Given the description of an element on the screen output the (x, y) to click on. 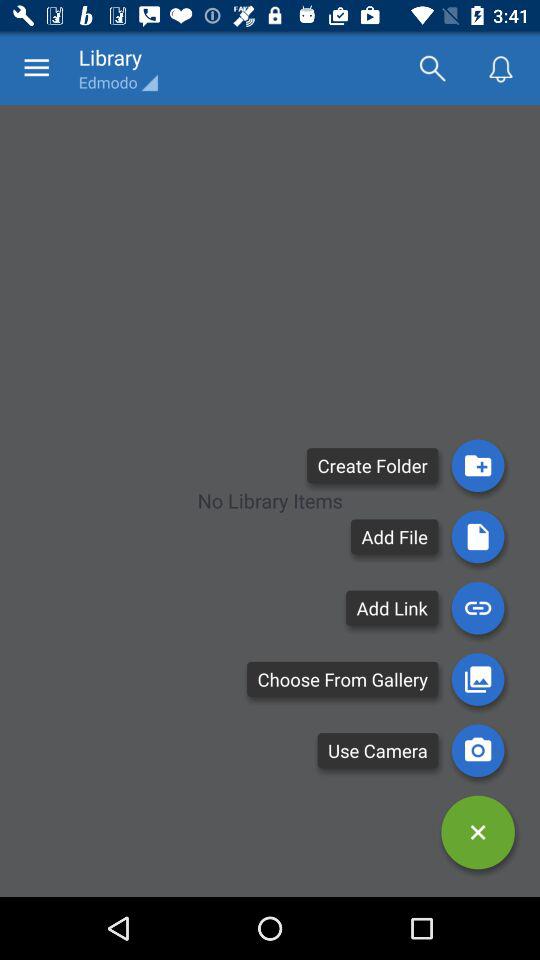
attach link (478, 607)
